Given the description of an element on the screen output the (x, y) to click on. 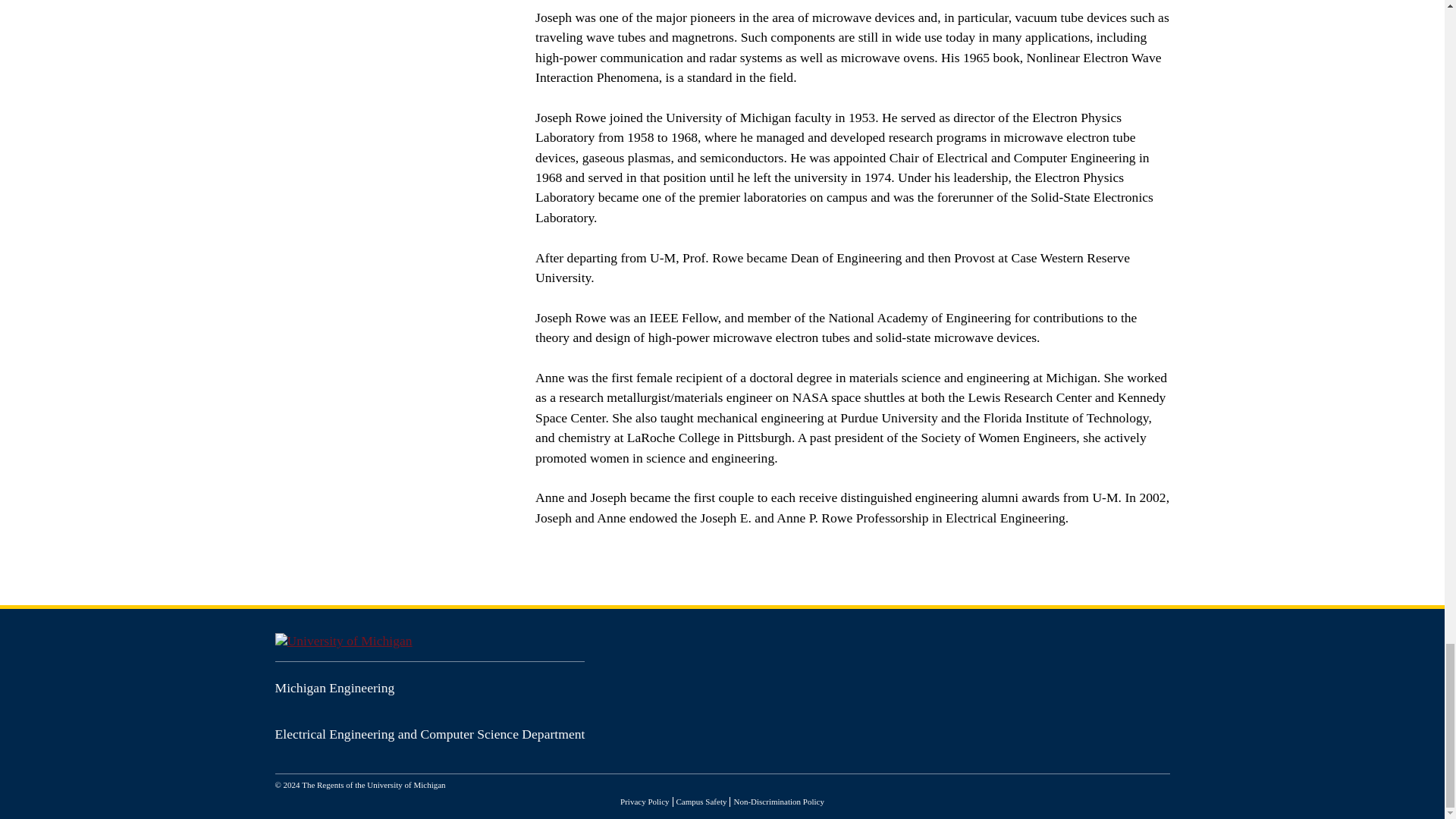
Michigan Engineering (334, 687)
Electrical Engineering and Computer Science Department (430, 734)
The Regents of the University of Michigan (373, 784)
Privacy Policy (644, 800)
Campus Safety (701, 800)
Non-Discrimination Policy (778, 800)
